Given the description of an element on the screen output the (x, y) to click on. 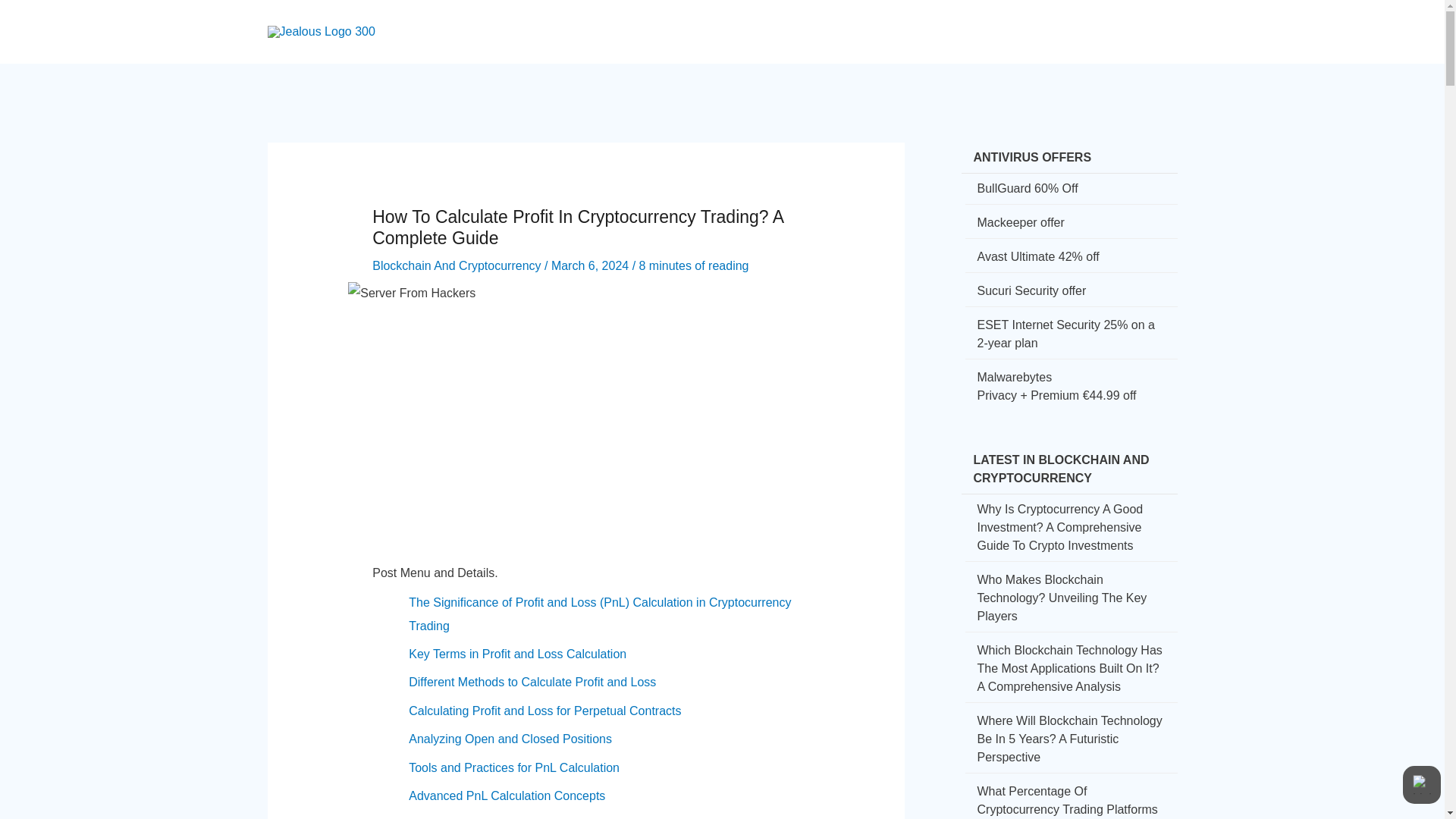
Gaming (999, 18)
Key Terms in Profit and Loss Calculation (517, 653)
Finances (929, 18)
Calculating Profit and Loss for Perpetual Contracts (545, 710)
Advanced PnL Calculation Concepts (507, 795)
Misc (1122, 18)
Social (863, 18)
10 Best (1064, 18)
Analyzing Open and Closed Positions (510, 738)
